Given the description of an element on the screen output the (x, y) to click on. 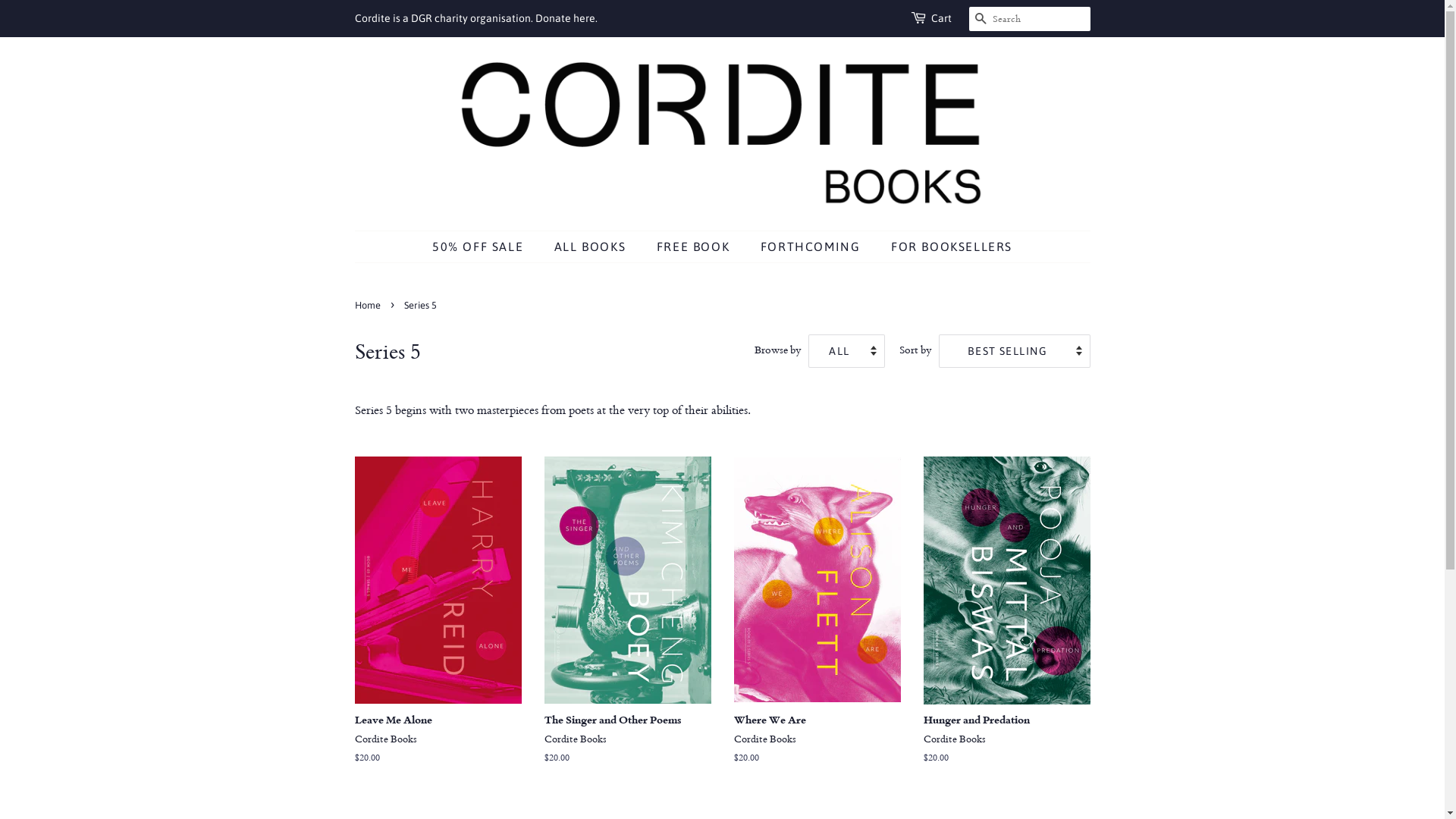
50% OFF SALE Element type: text (485, 246)
Cart Element type: text (941, 18)
Hunger and Predation
Cordite Books
Regular price
$20.00 Element type: text (1006, 624)
Home Element type: text (369, 304)
ALL BOOKS Element type: text (591, 246)
SEARCH Element type: text (981, 18)
Where We Are
Cordite Books
Regular price
$20.00 Element type: text (817, 624)
Cordite is a DGR charity organisation. Donate here. Element type: text (475, 18)
FOR BOOKSELLERS Element type: text (945, 246)
FREE BOOK Element type: text (694, 246)
Leave Me Alone
Cordite Books
Regular price
$20.00 Element type: text (437, 624)
FORTHCOMING Element type: text (812, 246)
